Given the description of an element on the screen output the (x, y) to click on. 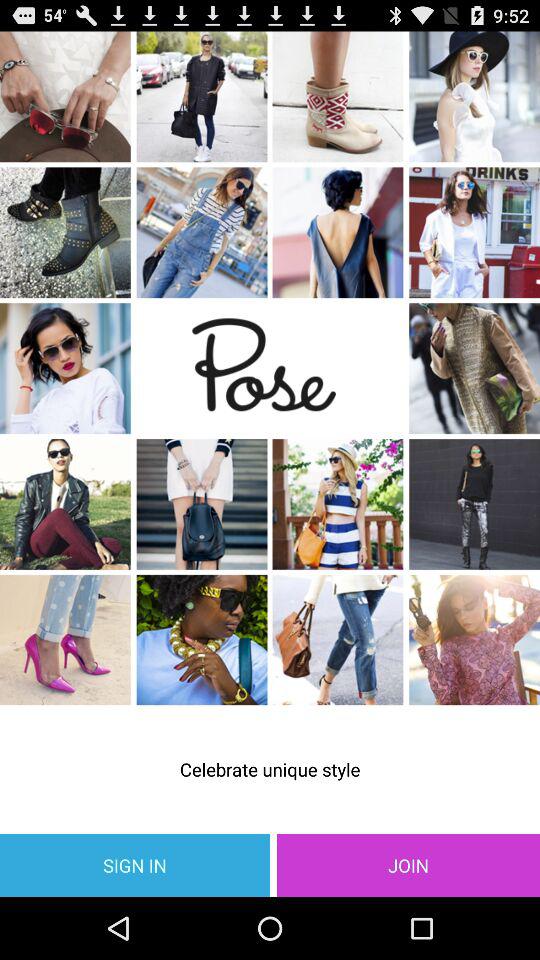
select the item next to the join button (135, 864)
